Given the description of an element on the screen output the (x, y) to click on. 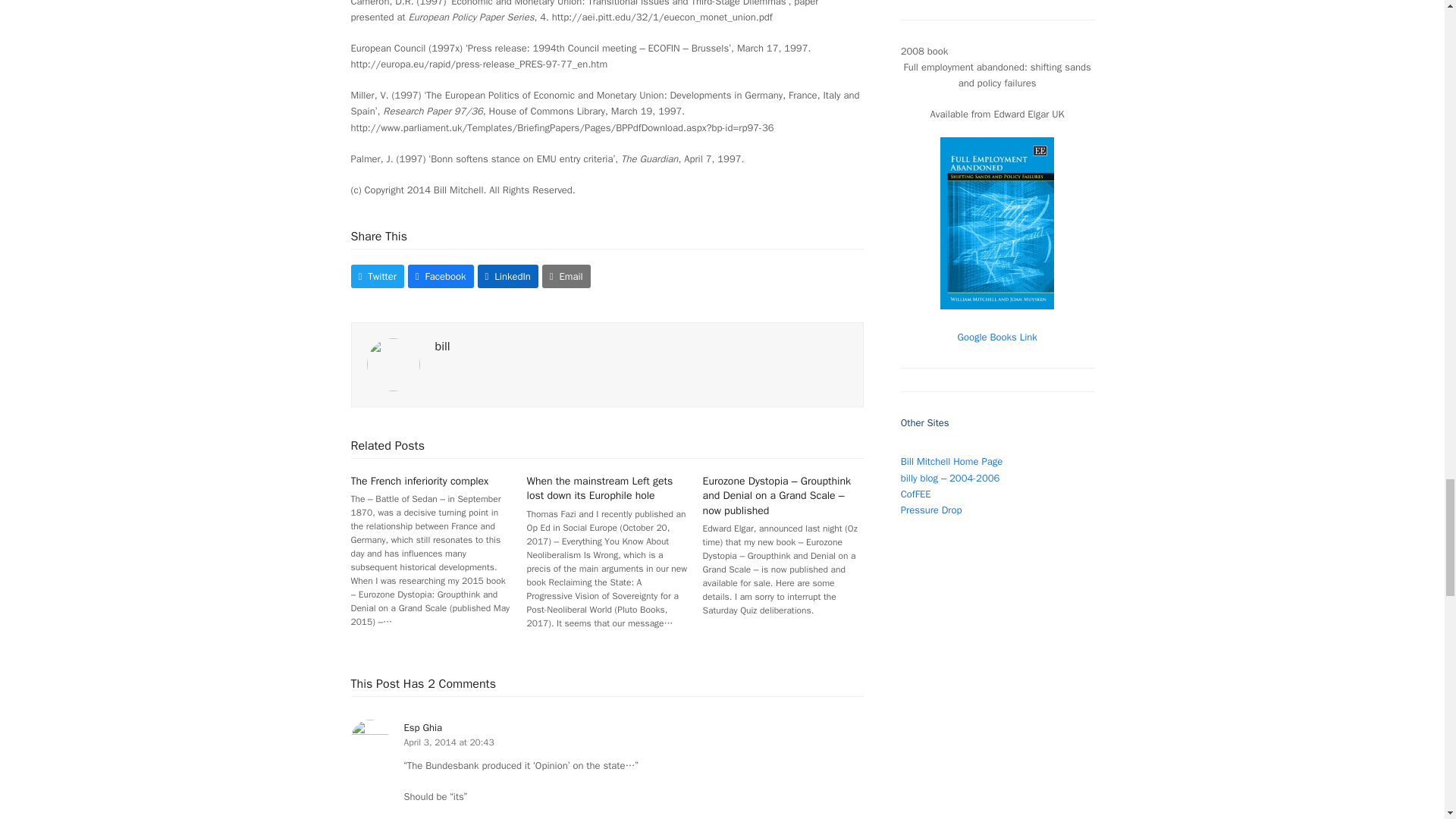
Twitter (376, 276)
LinkedIn (507, 276)
Visit Author Page (393, 363)
bill (442, 346)
The French inferiority complex (418, 481)
When the mainstream Left gets lost down its Europhile hole (599, 488)
Facebook (440, 276)
April 3, 2014 at 20:43 (448, 742)
Email (566, 276)
Visit Author Page (442, 346)
